Given the description of an element on the screen output the (x, y) to click on. 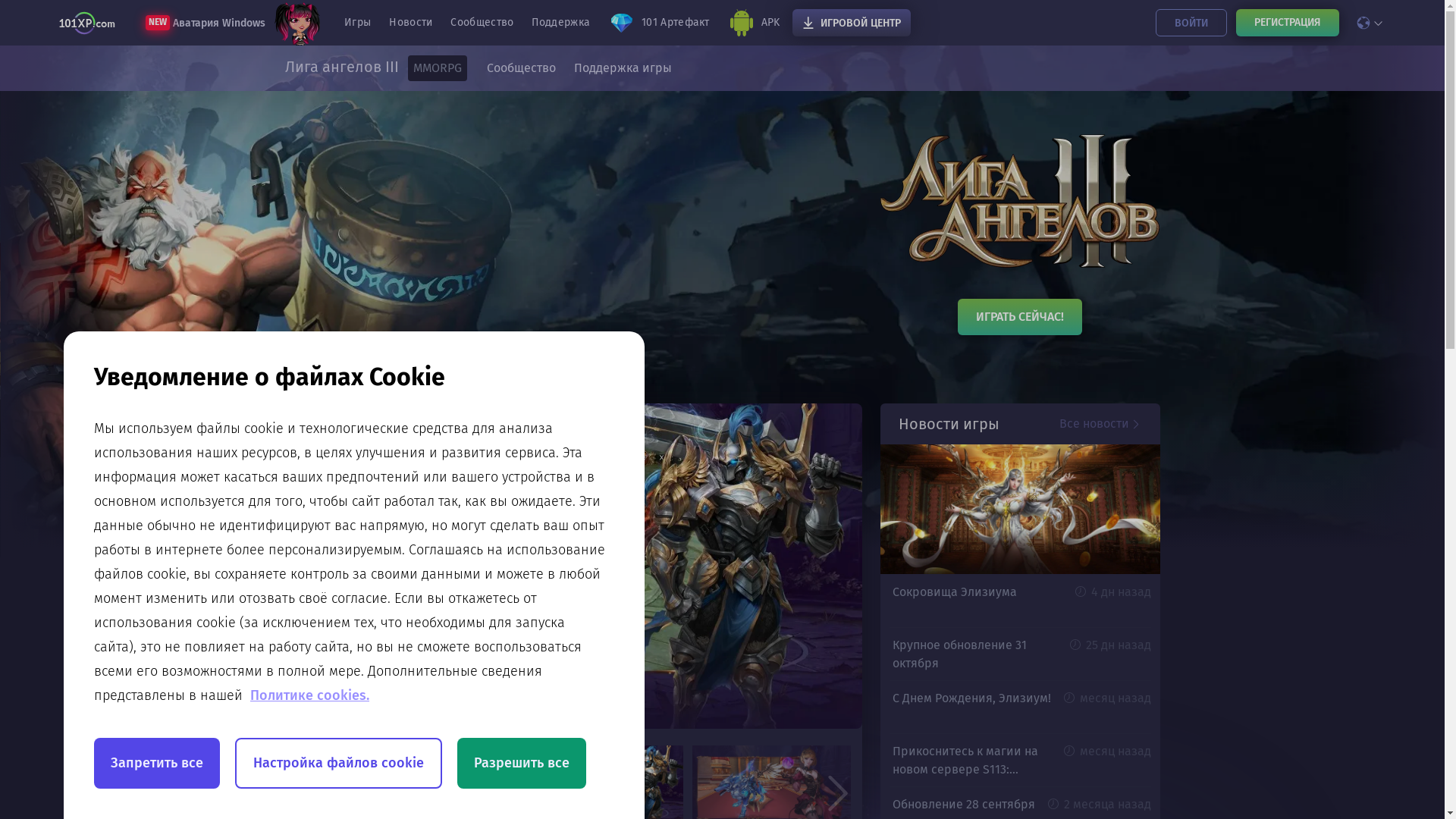
APK Element type: text (753, 22)
